Given the description of an element on the screen output the (x, y) to click on. 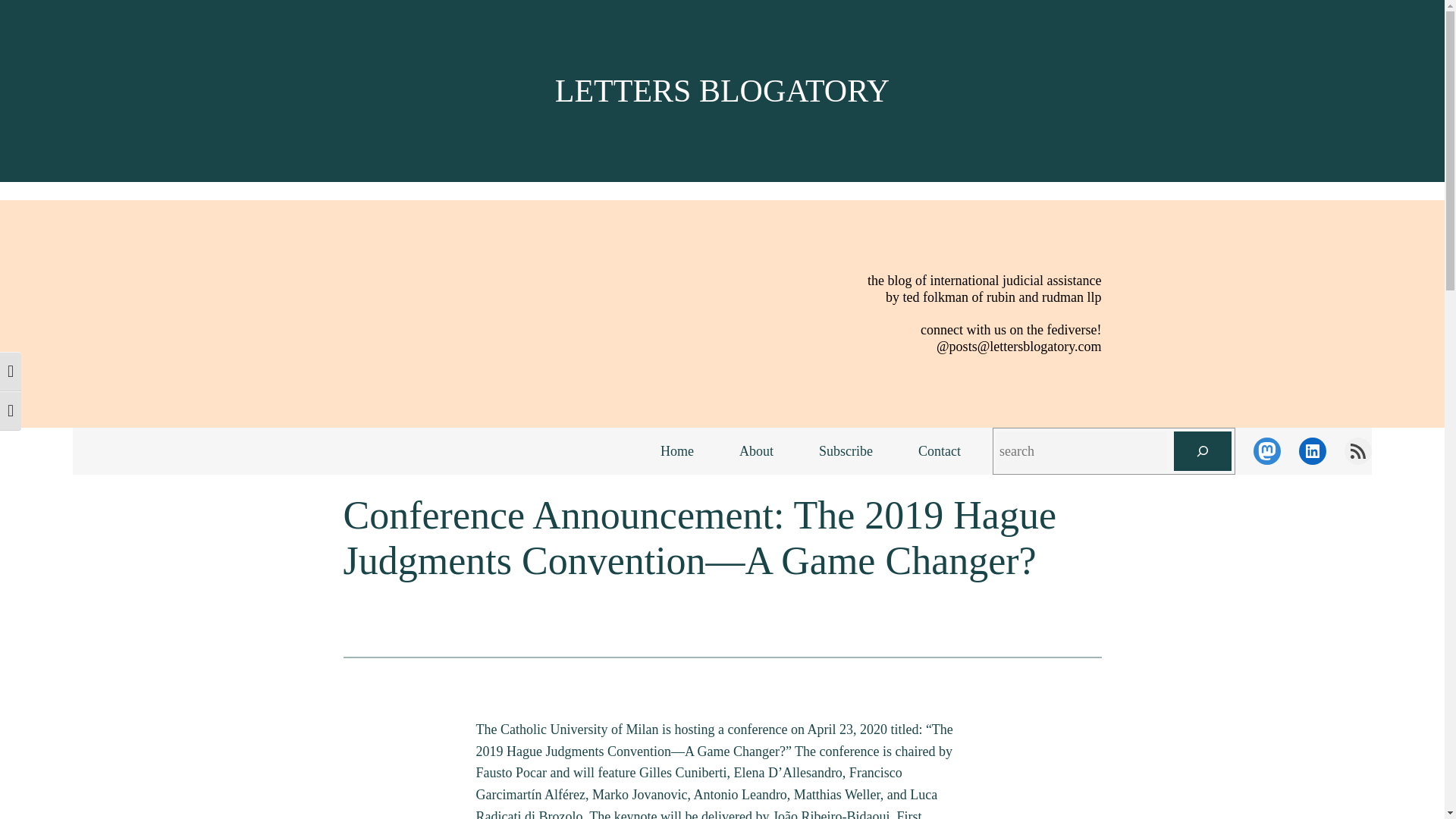
Letters Blogatory RSS feed (1357, 451)
Contact (939, 451)
Mastodon (1267, 451)
Subscribe (845, 451)
Home (676, 451)
About (756, 451)
LinkedIn (1312, 451)
